Given the description of an element on the screen output the (x, y) to click on. 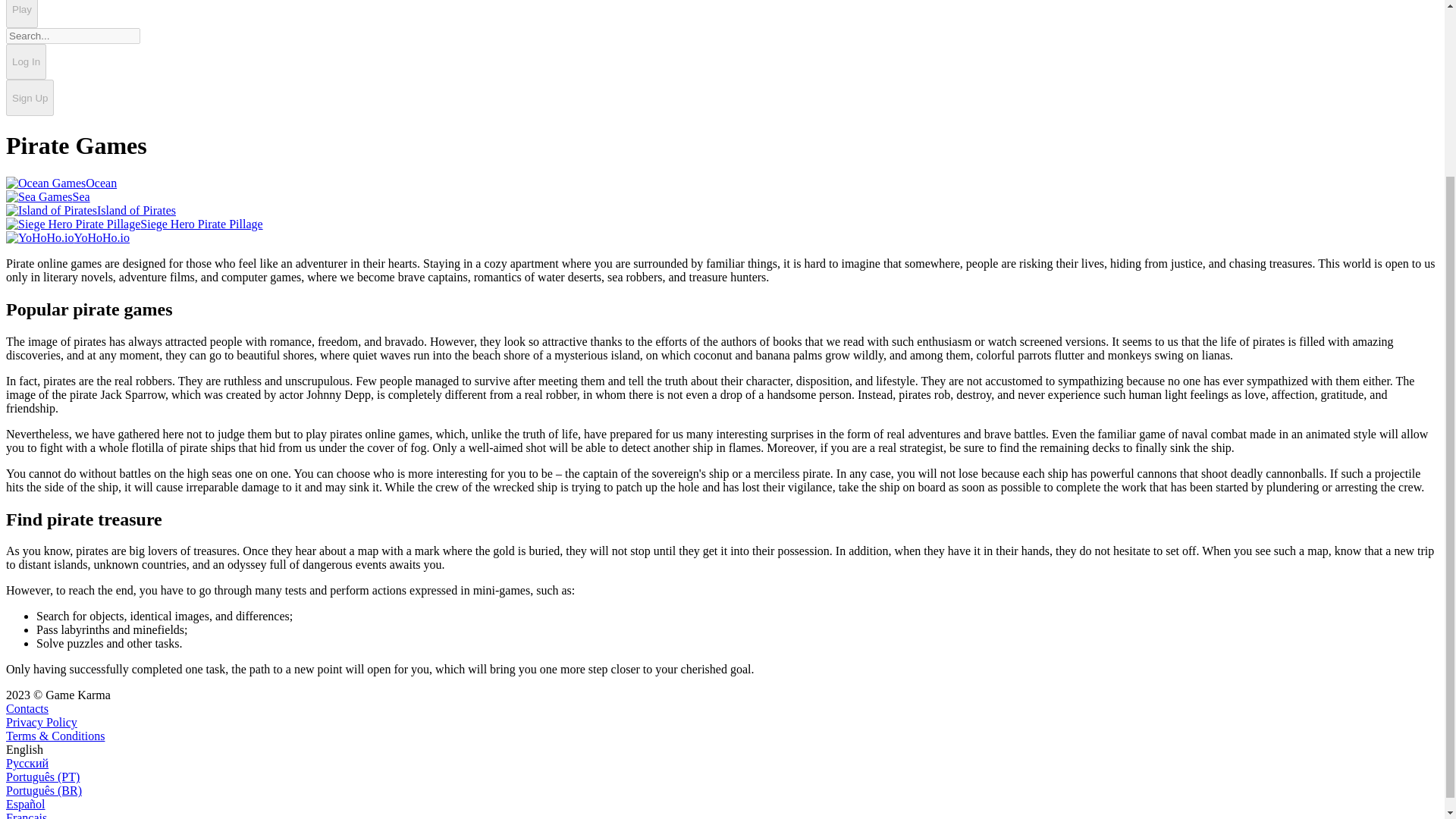
Sea (47, 196)
YoHoHo.io (67, 237)
Contacts (26, 707)
Siege Hero Pirate Pillage (134, 223)
Ocean (60, 182)
Log In (25, 62)
Privacy Policy (41, 721)
Sign Up (29, 97)
Island of Pirates (90, 210)
Play (21, 13)
